Given the description of an element on the screen output the (x, y) to click on. 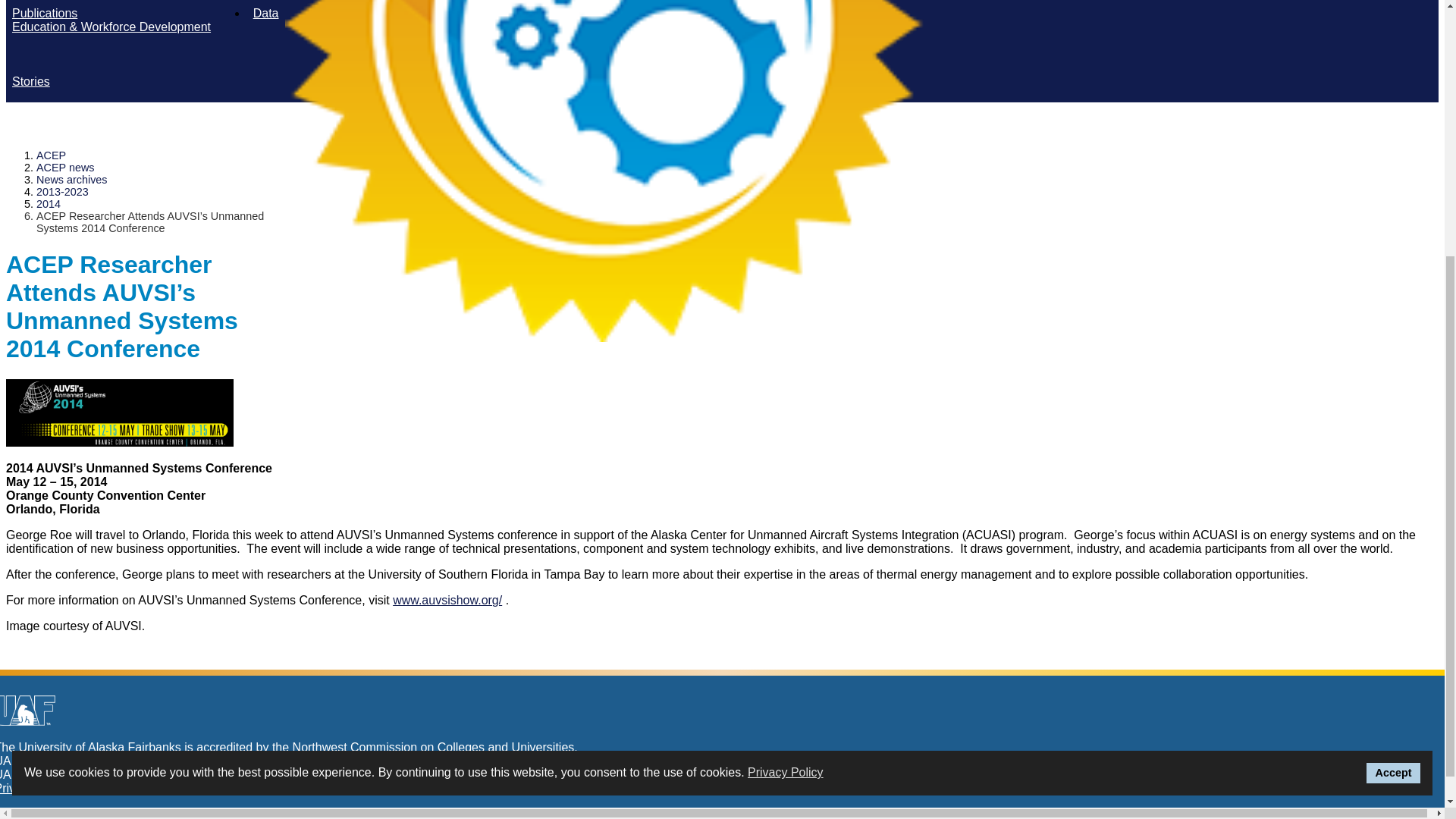
Accept (1394, 391)
Publications (44, 14)
Data (266, 14)
Privacy Policy (786, 391)
Stories (30, 83)
